Given the description of an element on the screen output the (x, y) to click on. 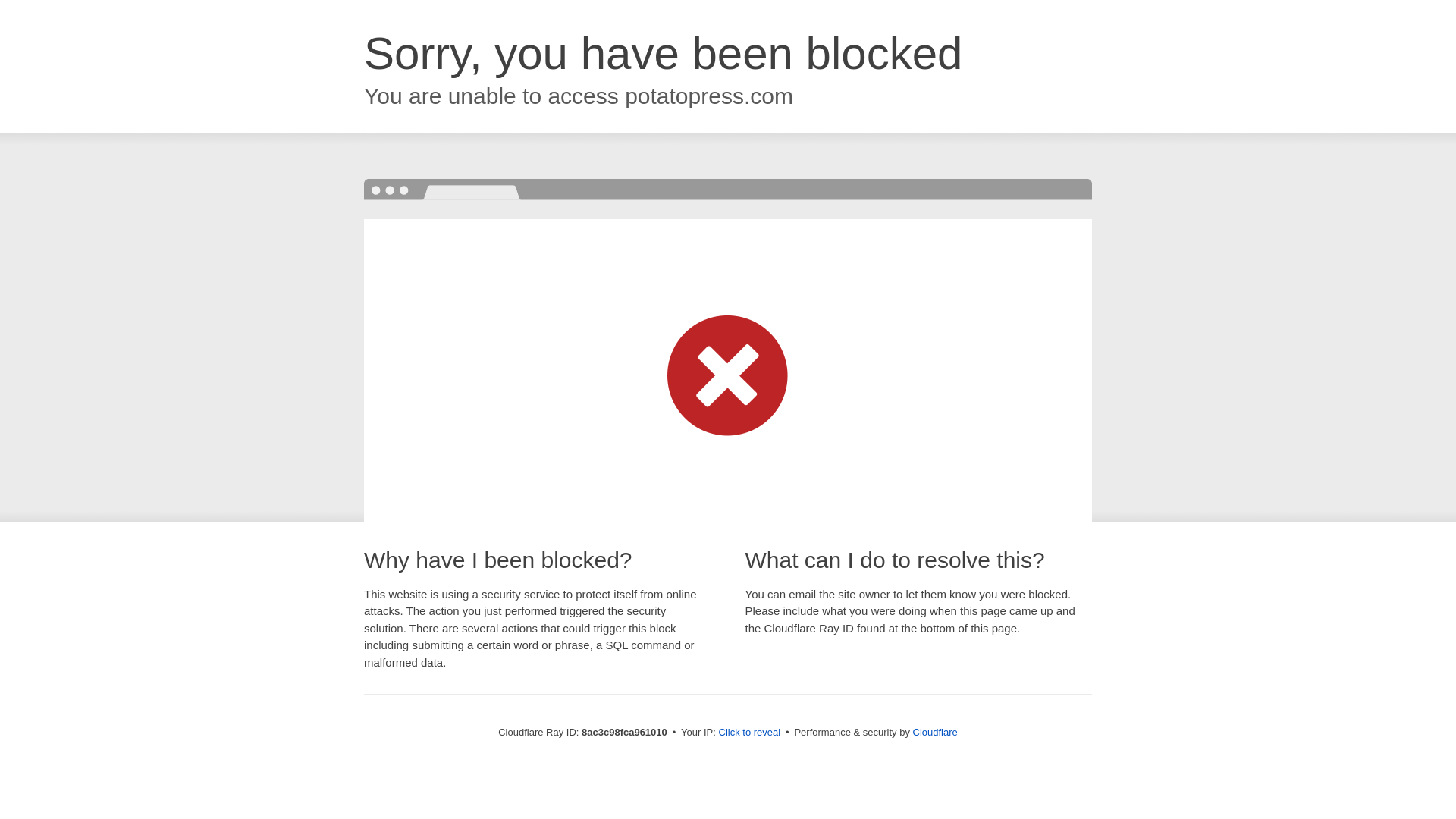
Click to reveal (749, 732)
Cloudflare (935, 731)
